Given the description of an element on the screen output the (x, y) to click on. 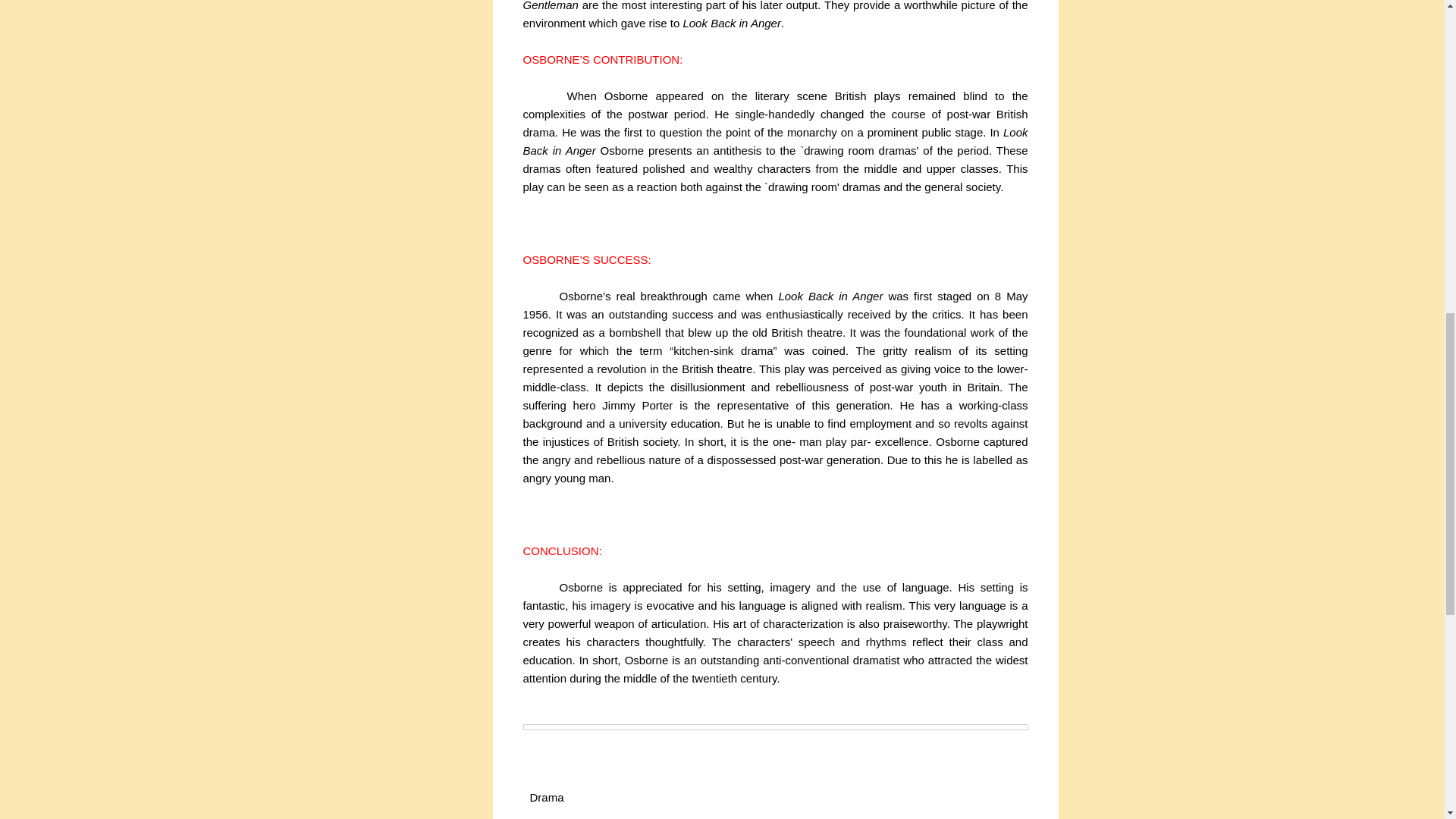
Drama (546, 797)
Email Post (597, 796)
